Given the description of an element on the screen output the (x, y) to click on. 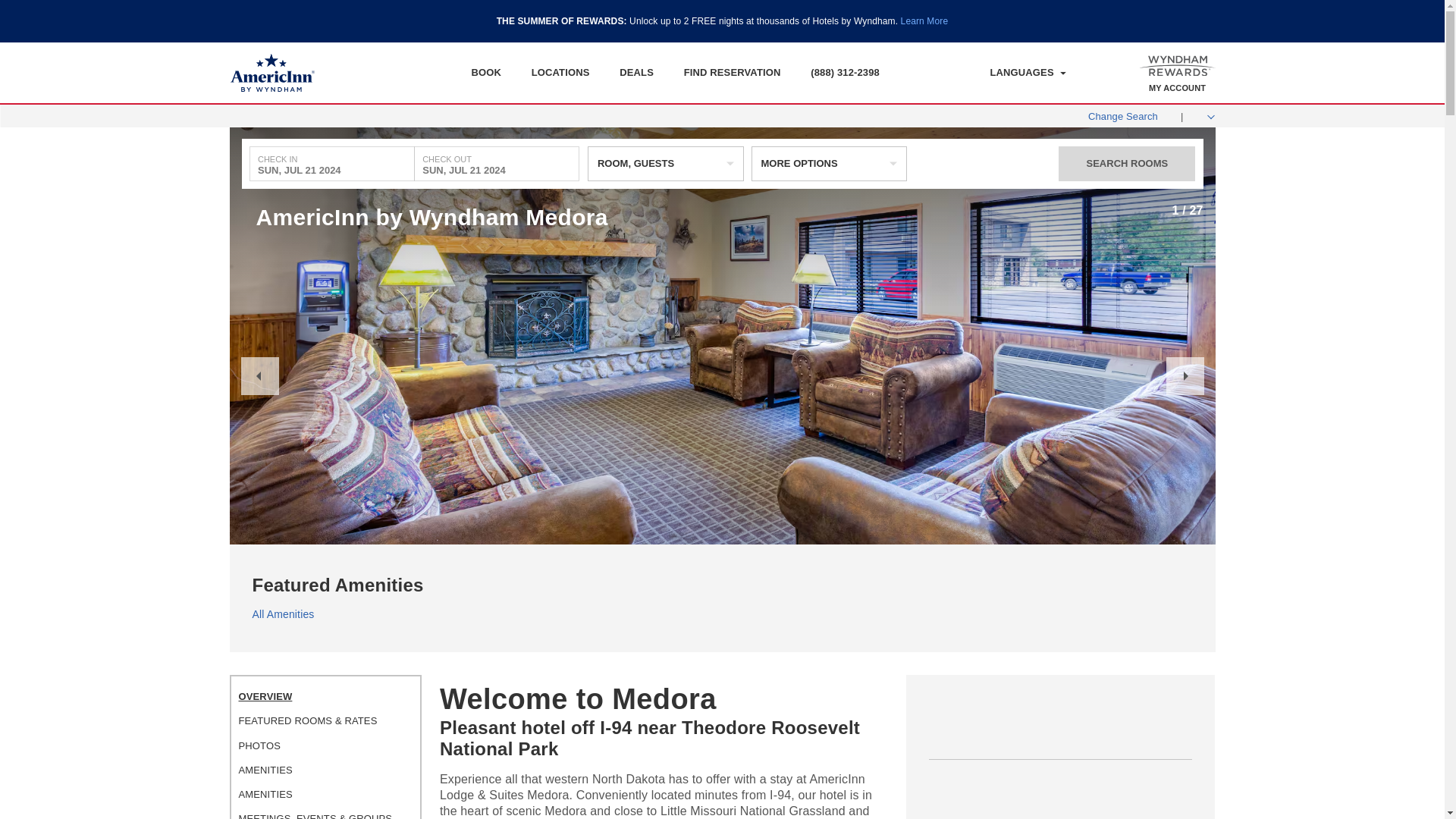
MY ACCOUNT (1176, 87)
Learn More (925, 20)
LOCATIONS (560, 72)
LANGUAGES (1028, 72)
BOOK (485, 72)
DEALS (636, 72)
FIND RESERVATION (732, 72)
